Given the description of an element on the screen output the (x, y) to click on. 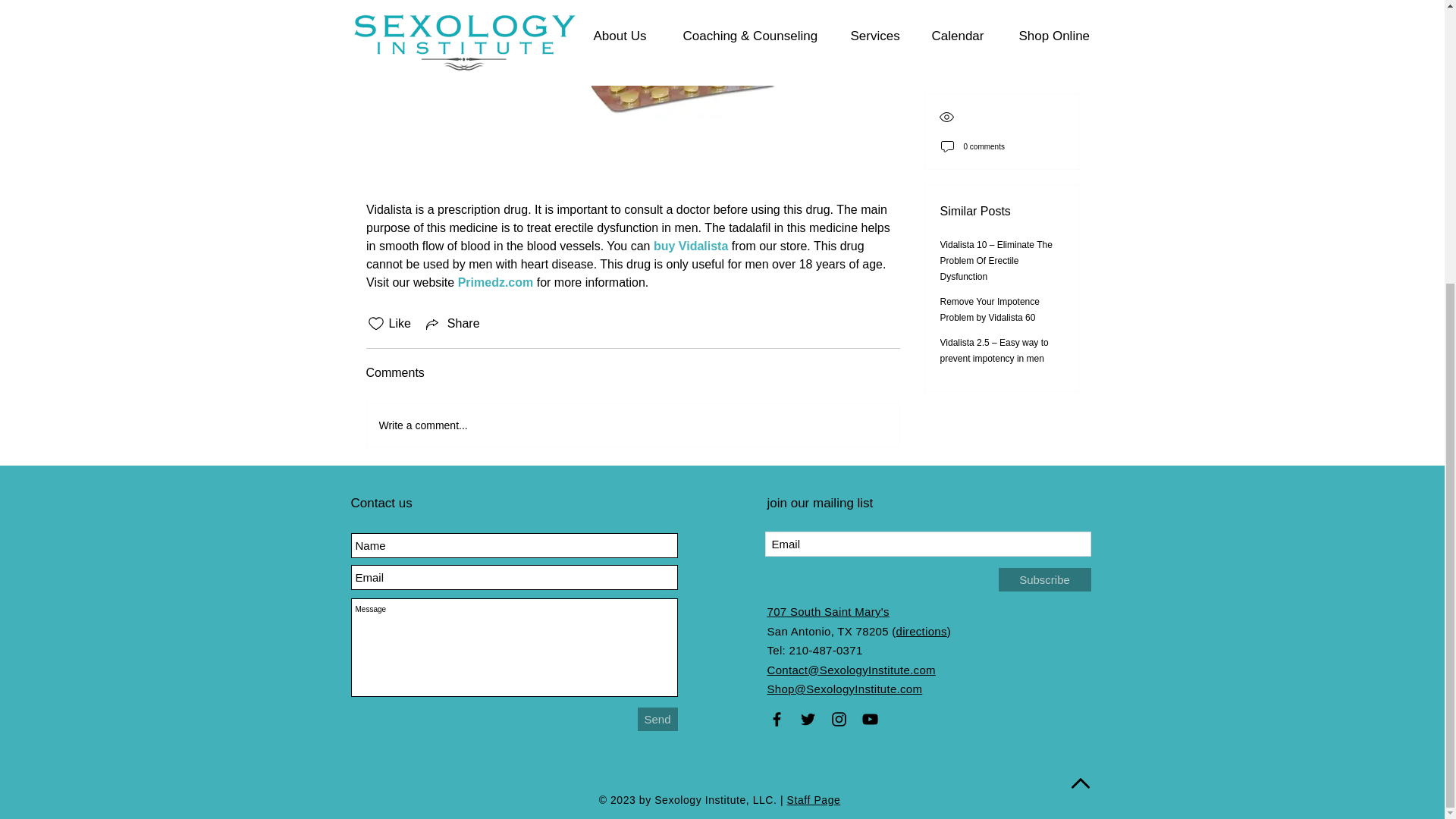
Remove Your Impotence Problem by Vidalista 60 (989, 25)
directions (921, 630)
Send (657, 719)
210-487-0371 (826, 649)
707 South Saint Mary's (828, 611)
Share (451, 323)
Write a comment... (632, 425)
Subscribe (1043, 579)
Primedz.com (494, 282)
buy Vidalista (689, 245)
